Given the description of an element on the screen output the (x, y) to click on. 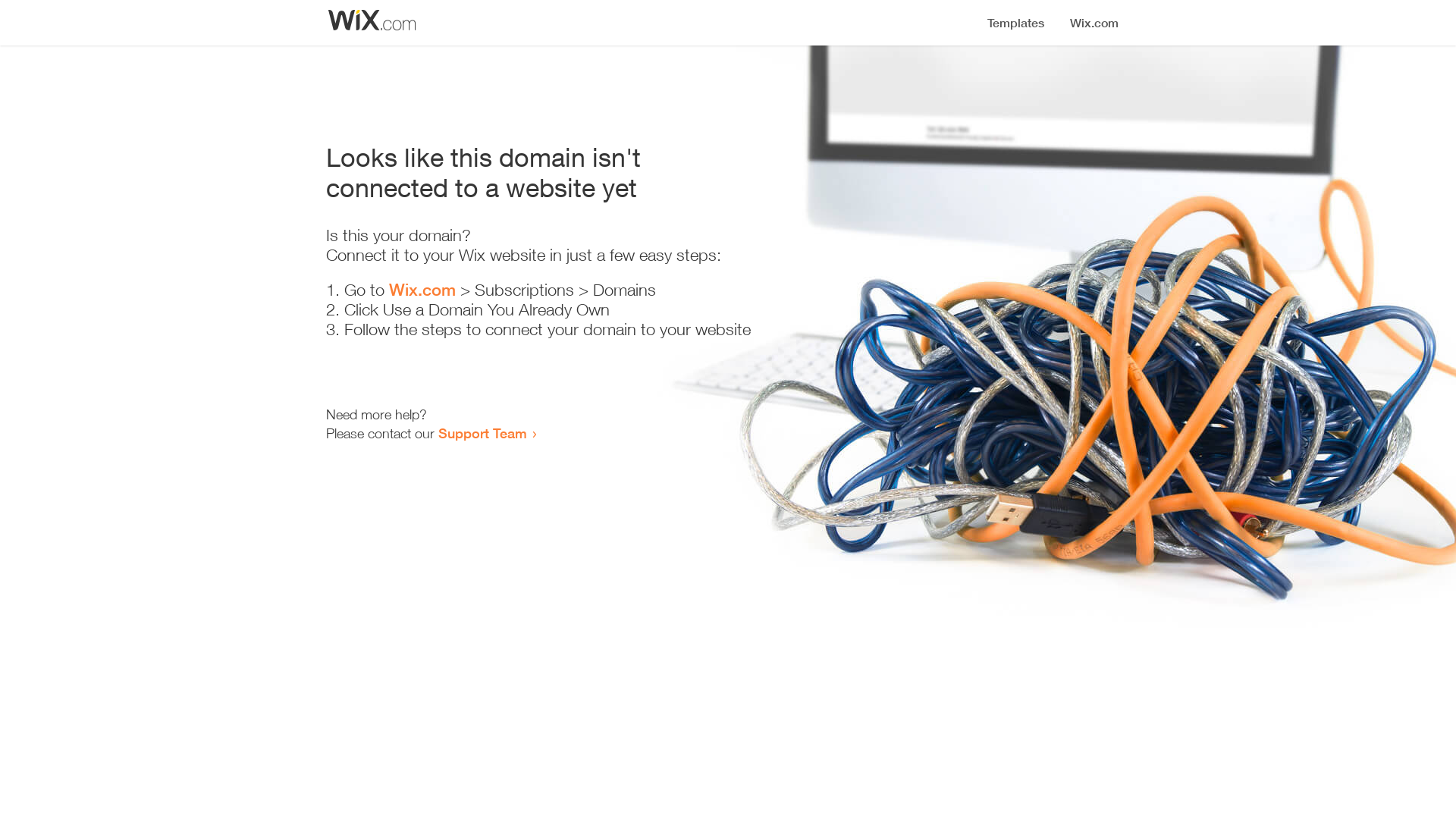
Support Team Element type: text (482, 432)
Wix.com Element type: text (422, 289)
